Given the description of an element on the screen output the (x, y) to click on. 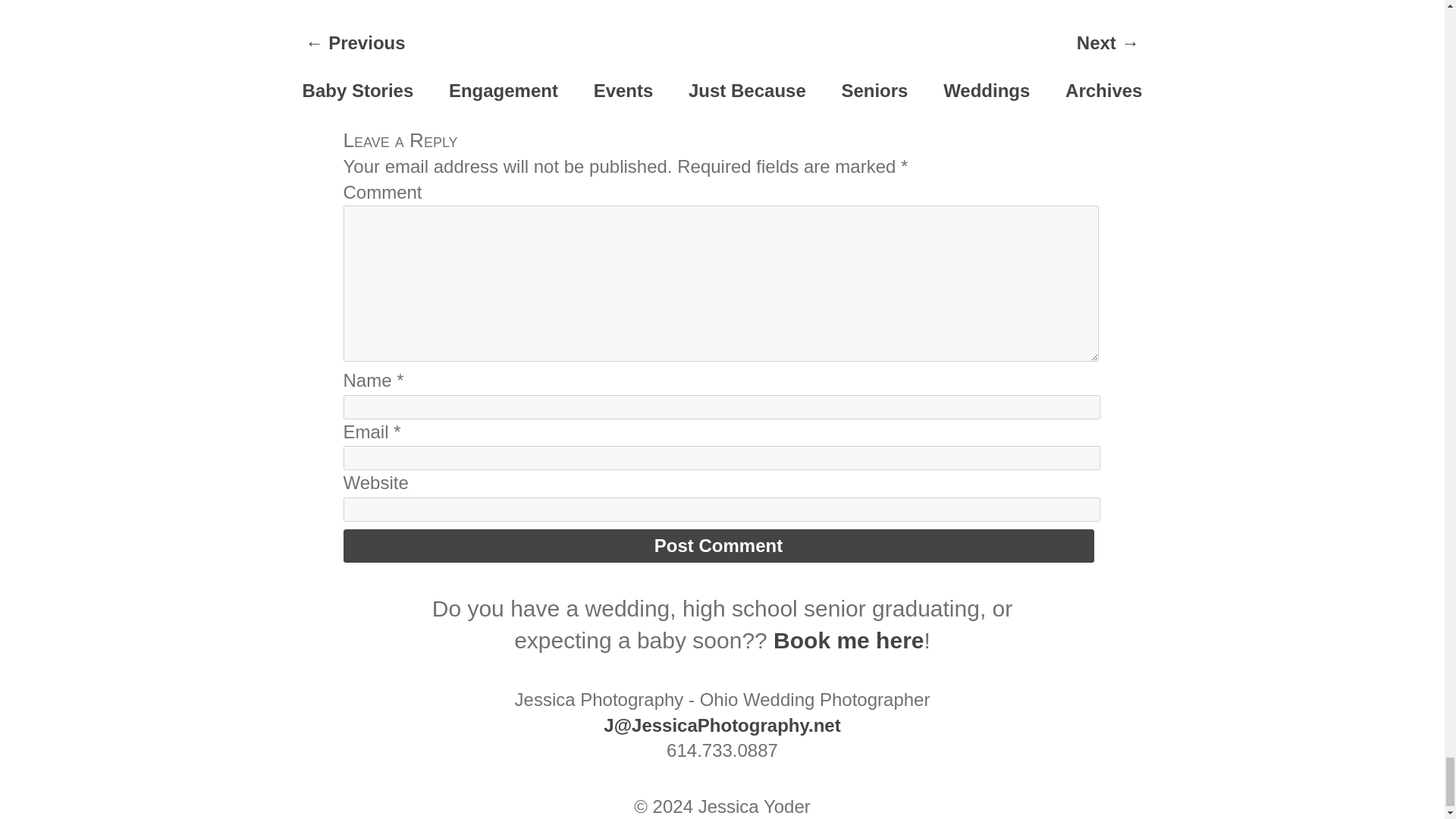
Post Comment (717, 545)
